Given the description of an element on the screen output the (x, y) to click on. 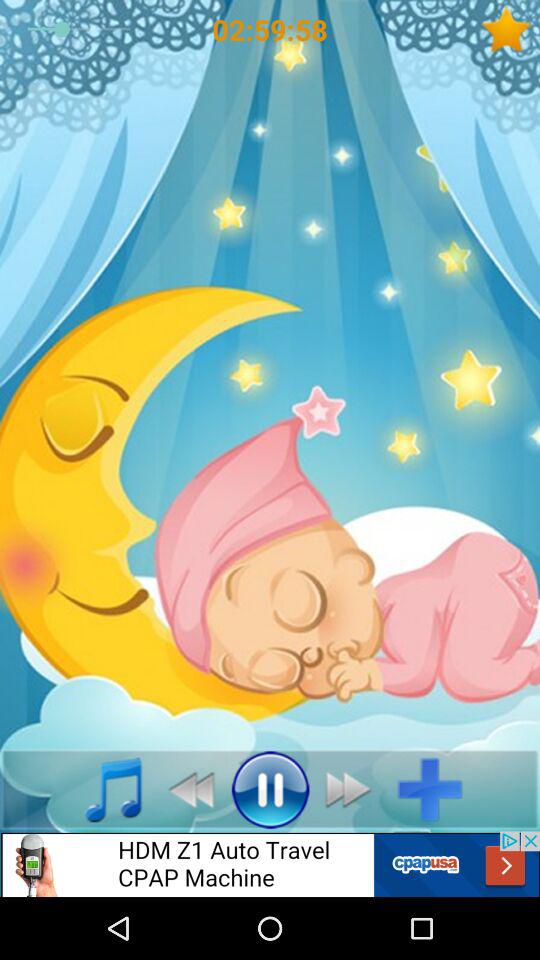
fast fwd (353, 789)
